Given the description of an element on the screen output the (x, y) to click on. 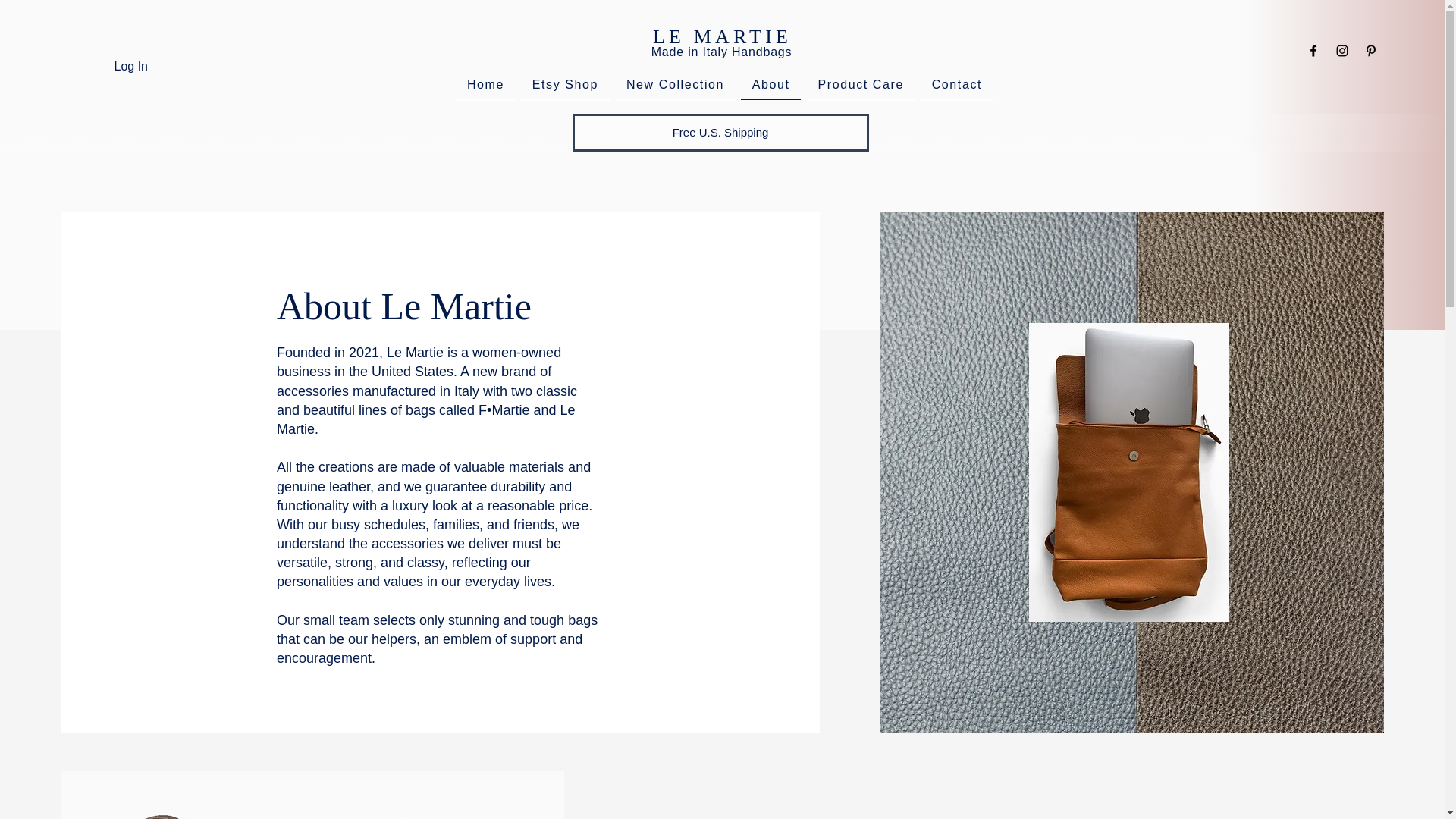
New Collection (675, 84)
About (770, 84)
Log In (130, 66)
LE MARTIE (722, 36)
Home (486, 84)
Contact (956, 84)
Etsy Shop (564, 84)
Product Care (860, 84)
Made in Italy Handbags (721, 51)
